Given the description of an element on the screen output the (x, y) to click on. 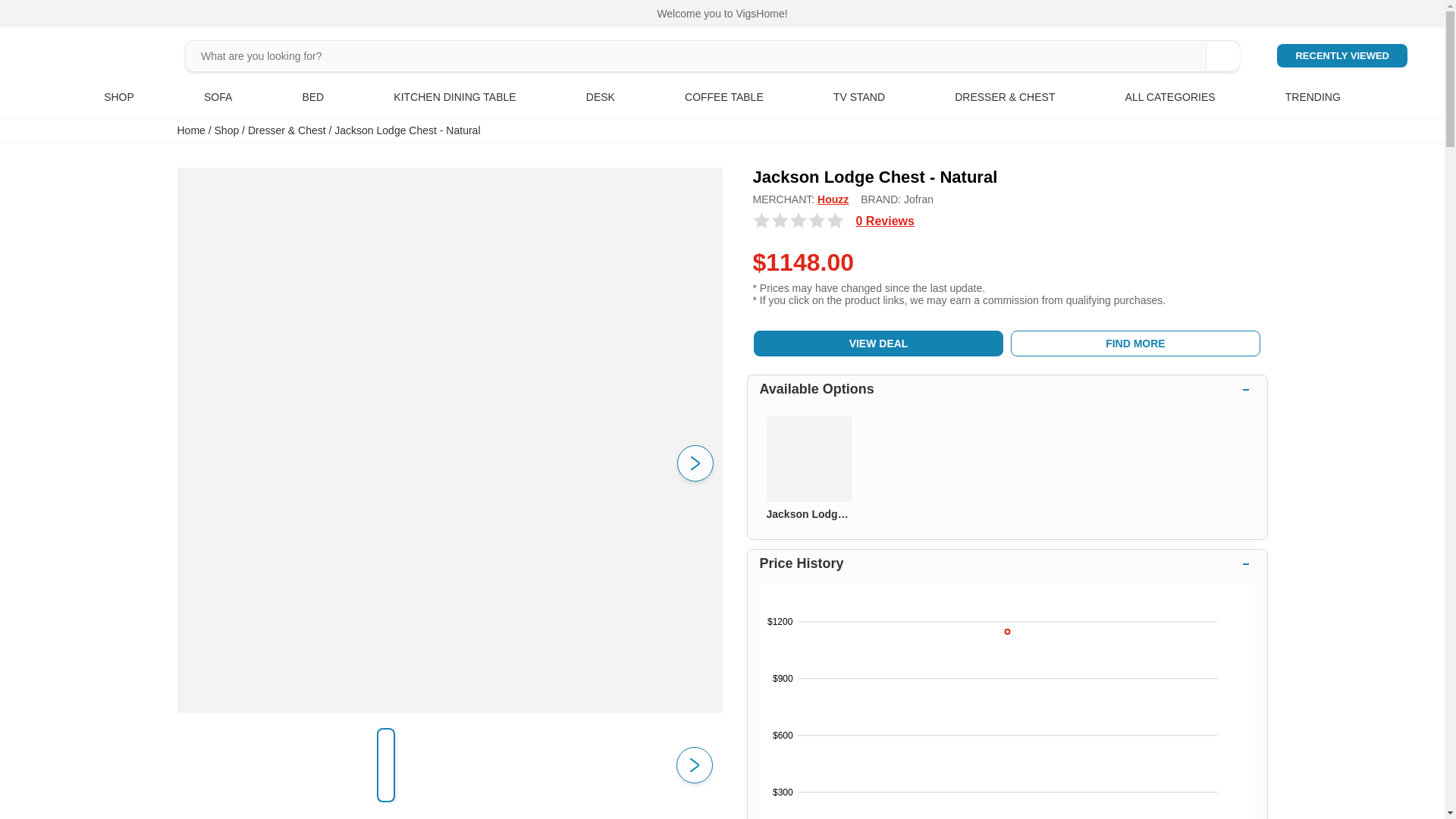
KITCHEN DINING TABLE (454, 96)
Home (191, 130)
Jackson Lodge Chest - Natural (407, 130)
COFFEE TABLE (723, 96)
Shop (227, 130)
Houzz (832, 199)
TV STAND (858, 96)
ALL CATEGORIES (1170, 96)
VIEW DEAL (879, 343)
TRENDING (1312, 96)
